Given the description of an element on the screen output the (x, y) to click on. 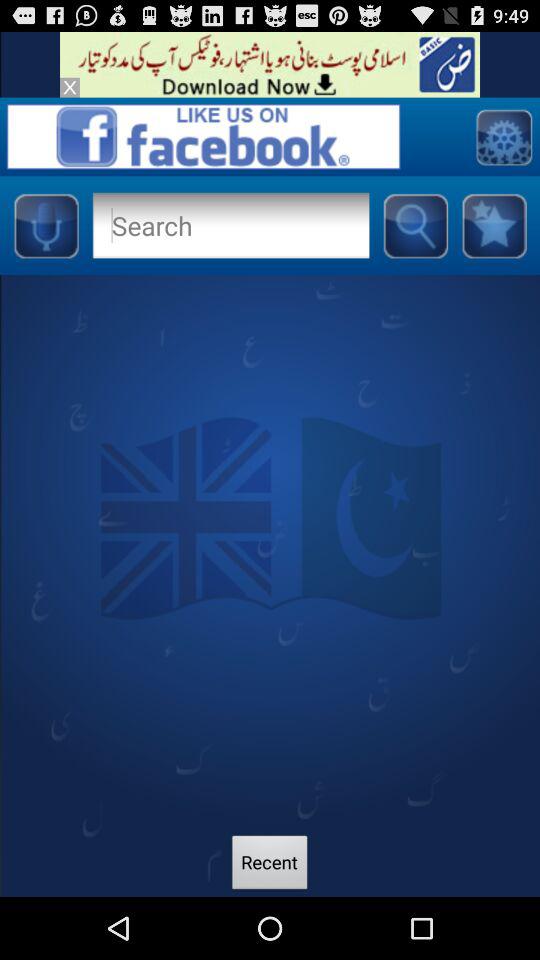
speak (45, 225)
